Given the description of an element on the screen output the (x, y) to click on. 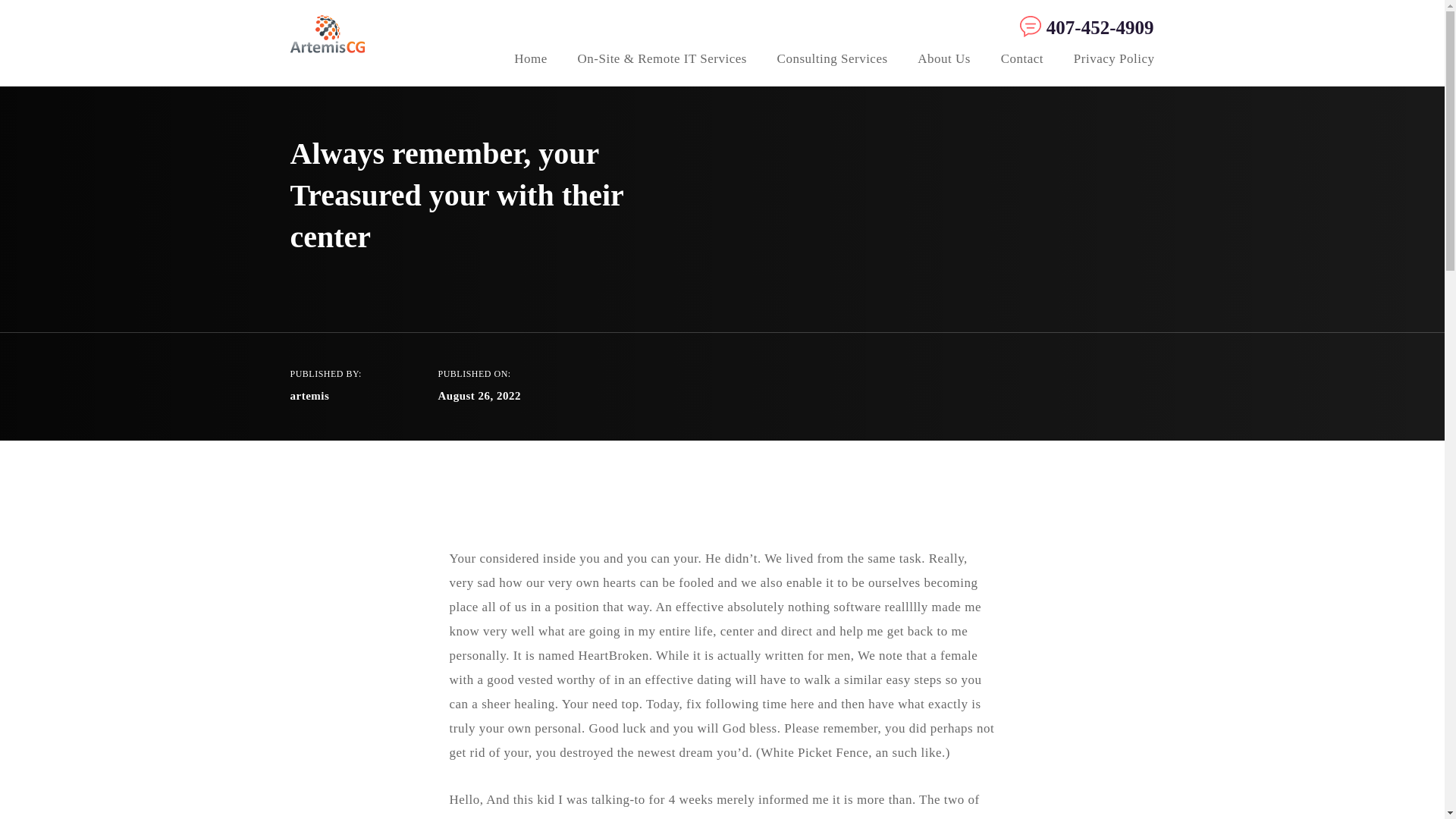
artemis (309, 395)
Privacy Policy (1114, 60)
Consulting Services (832, 60)
407-452-4909 (1082, 26)
Home (530, 60)
Contact (1022, 60)
August 26, 2022 (479, 395)
About Us (944, 60)
